Given the description of an element on the screen output the (x, y) to click on. 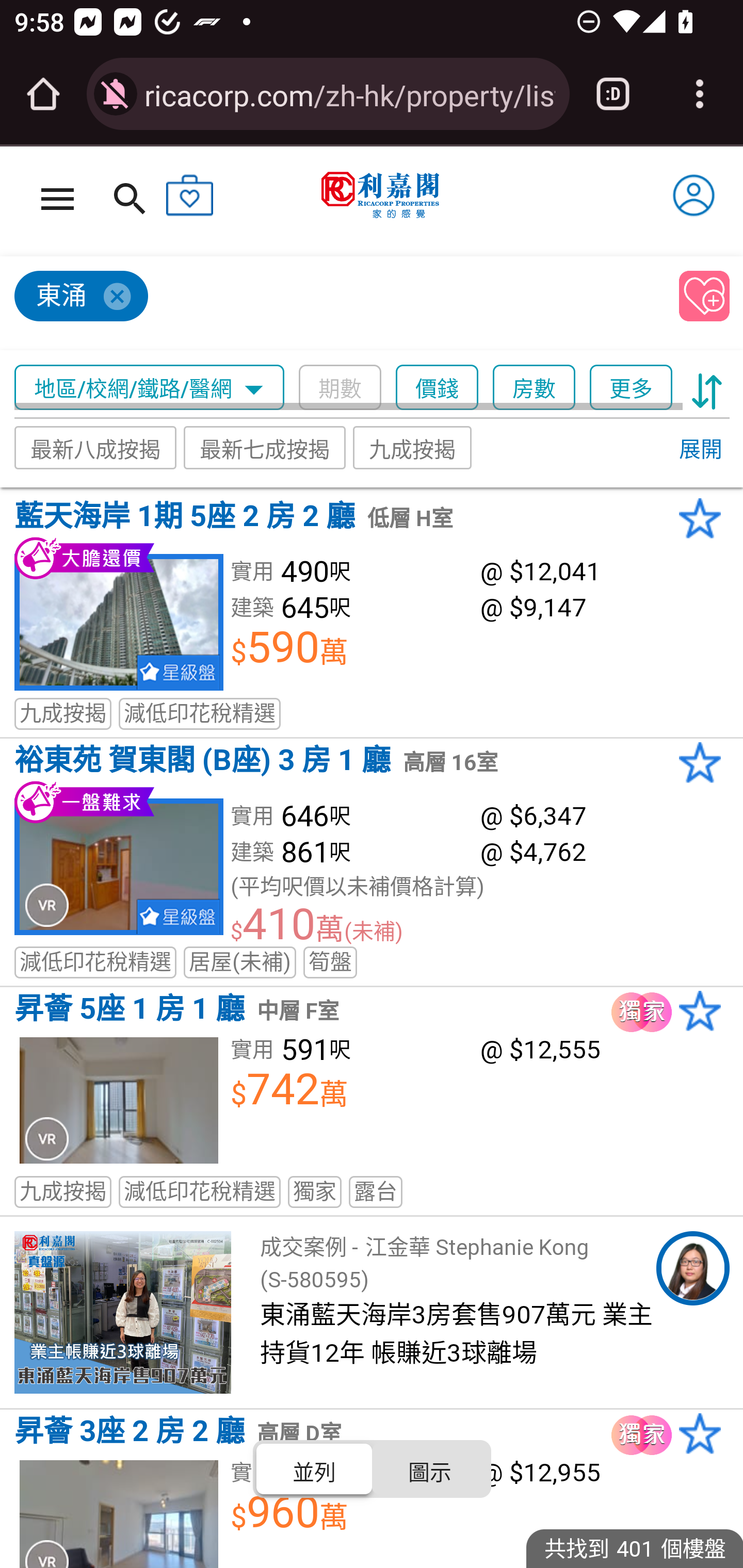
Open the home page (43, 93)
Connection is secure (115, 93)
Switch or close tabs (612, 93)
Customize and control Google Chrome (699, 93)
東涌 (338, 304)
地區/校網/鐵路/醫網 (149, 387)
期數 (339, 387)
價錢 (436, 387)
房數 (533, 387)
更多 (630, 387)
sort (706, 387)
最新八成按揭 (95, 446)
最新七成按揭 (264, 446)
九成按揭 (412, 446)
並列 (314, 1468)
圖示 (429, 1468)
